Given the description of an element on the screen output the (x, y) to click on. 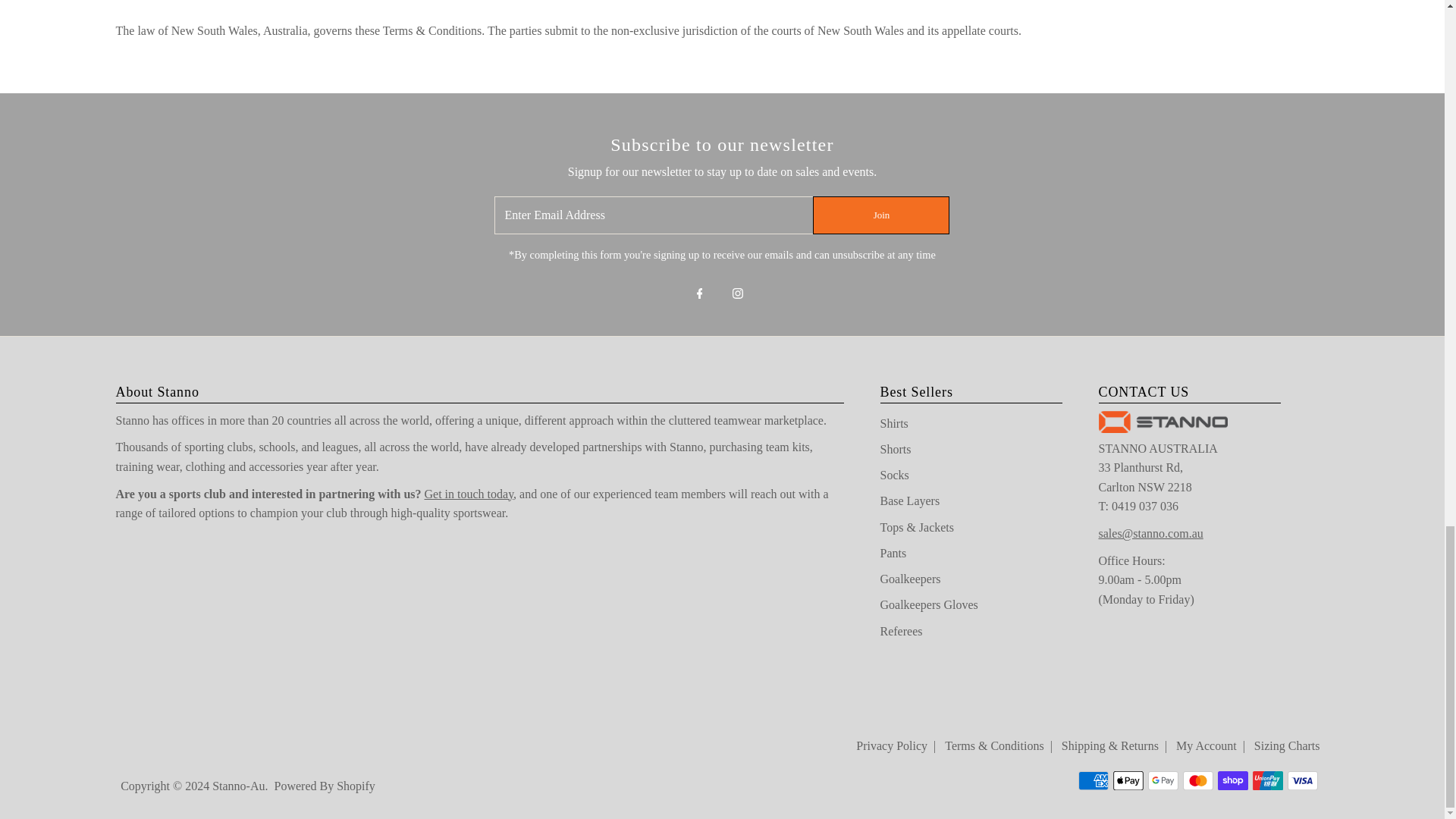
Shorts (895, 449)
Visa (1302, 780)
Pants (892, 553)
Join (880, 215)
Socks (893, 474)
Get in touch today (469, 493)
Google Pay (1162, 780)
Base Layers (909, 500)
Mastercard (1197, 780)
Apple Pay (1127, 780)
